Given the description of an element on the screen output the (x, y) to click on. 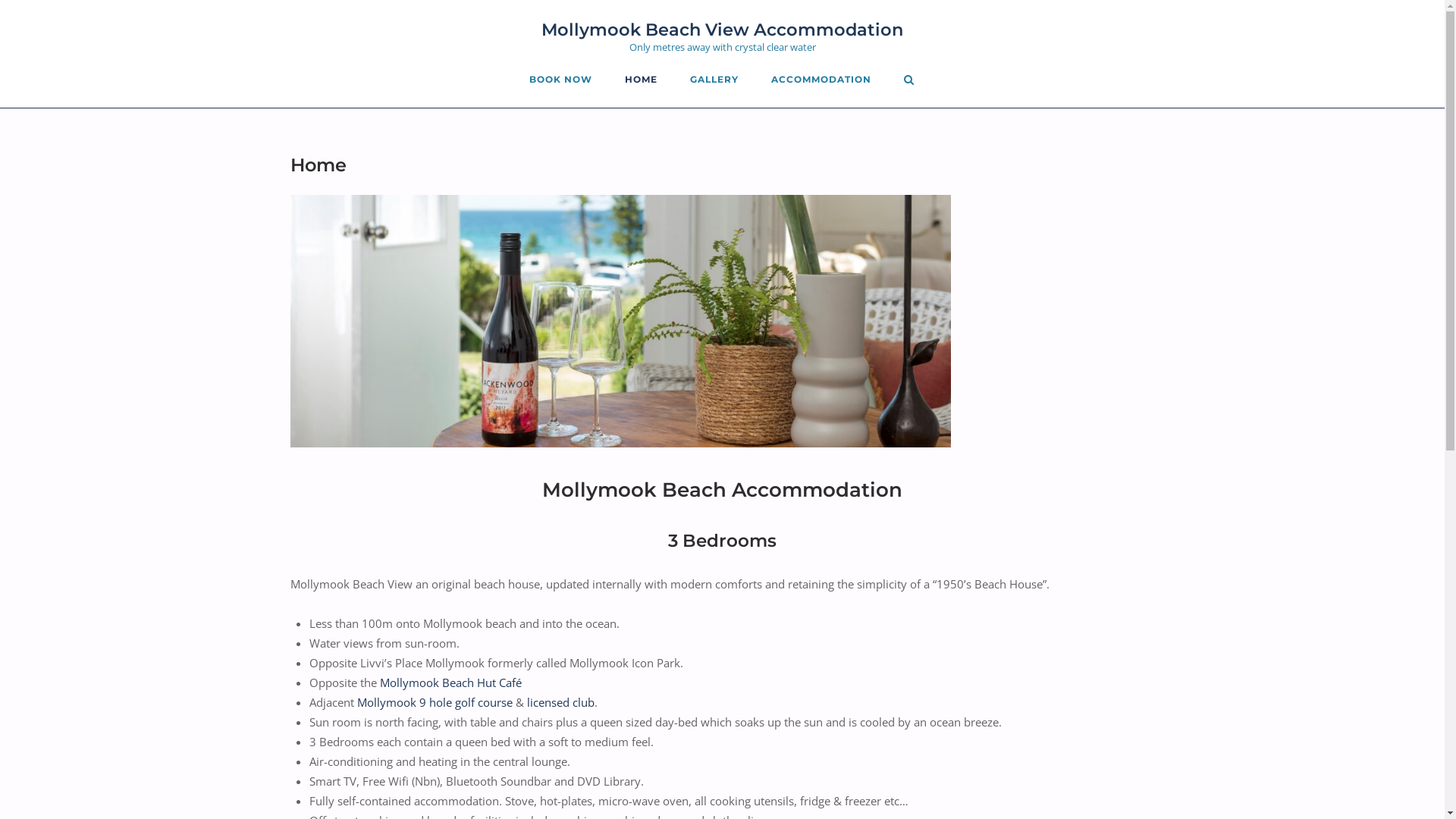
ACCOMMODATION Element type: text (821, 80)
BOOK NOW Element type: text (560, 80)
Mollymook 9 hole golf course Element type: text (435, 701)
licensed club Element type: text (559, 701)
HOME Element type: text (640, 80)
Mollymook Beach View Accommodation Element type: text (722, 29)
GALLERY Element type: text (714, 80)
